Given the description of an element on the screen output the (x, y) to click on. 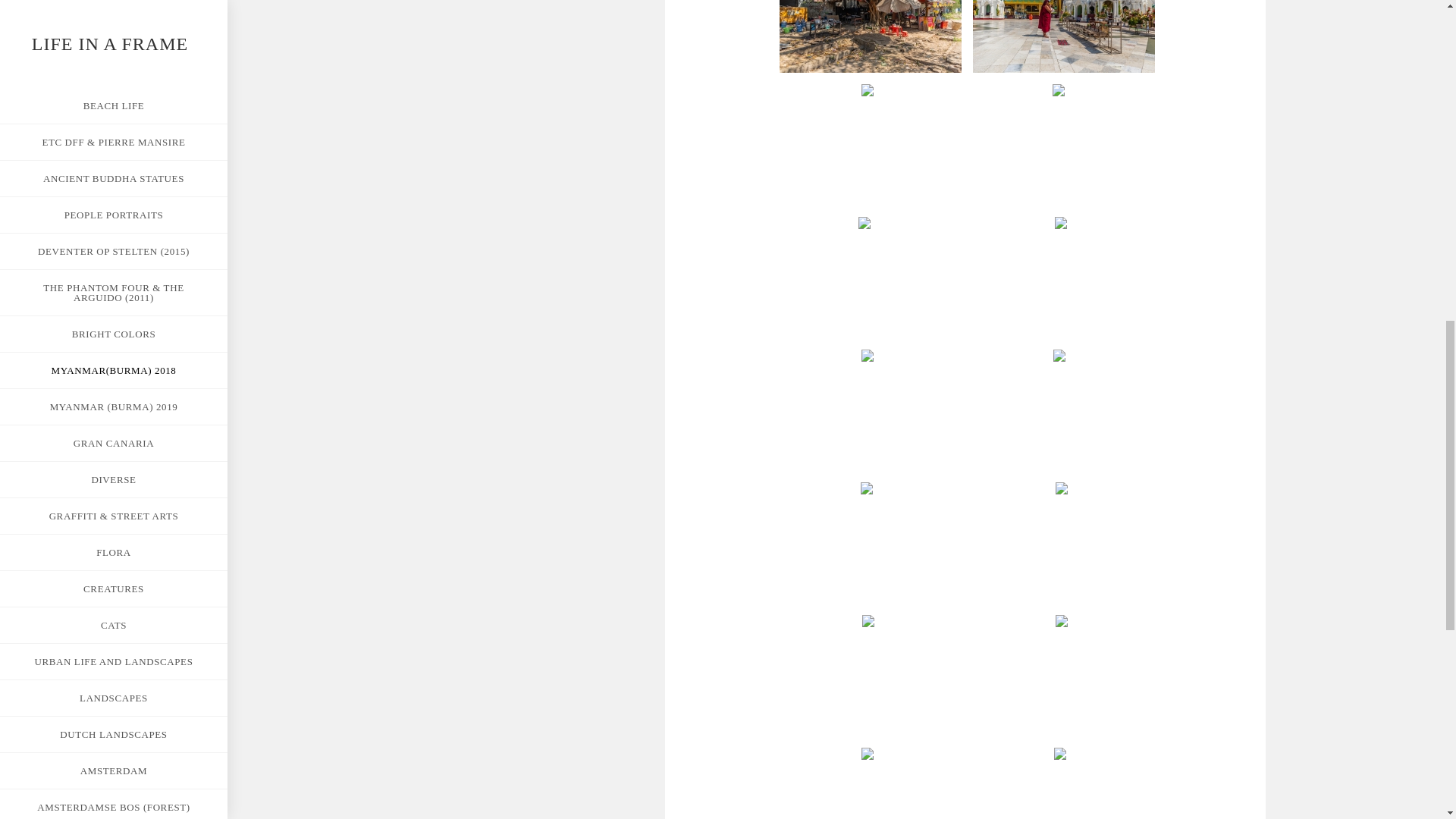
IPHONE SHOTS (113, 24)
CONTACT (113, 60)
